Given the description of an element on the screen output the (x, y) to click on. 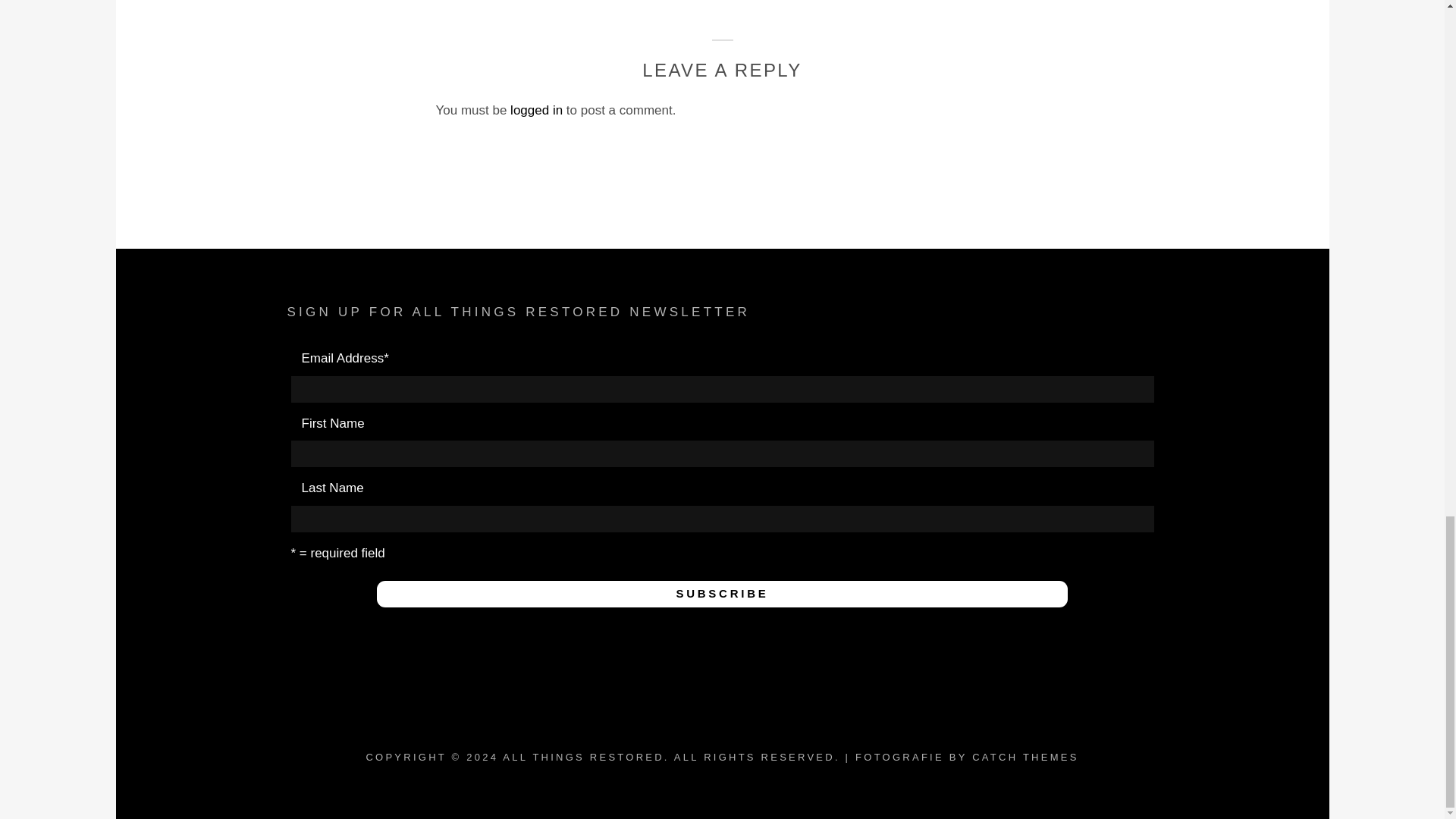
ALL THINGS RESTORED (582, 756)
logged in (536, 110)
Subscribe (722, 593)
Subscribe (722, 593)
CATCH THEMES (1025, 756)
